Given the description of an element on the screen output the (x, y) to click on. 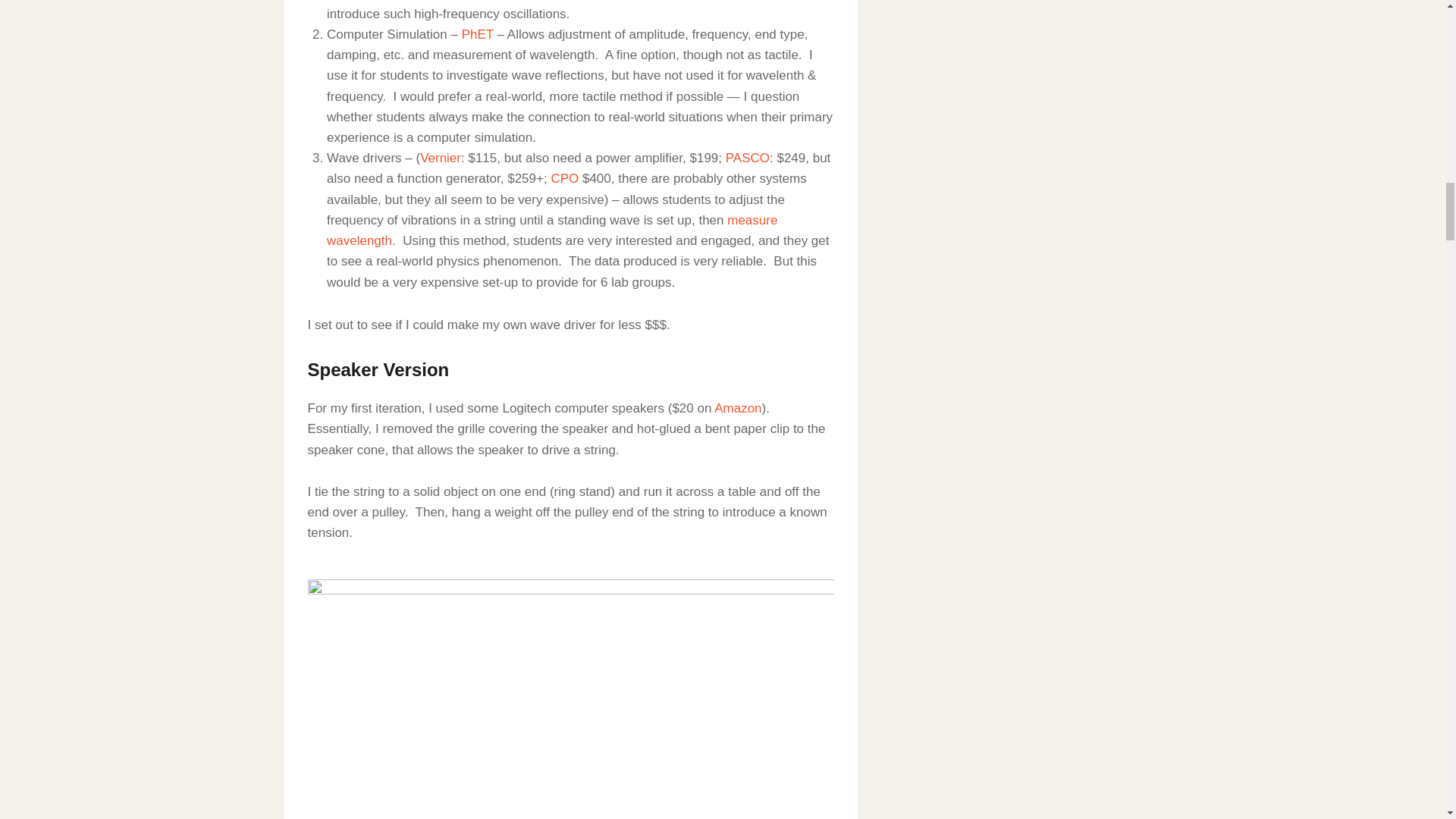
Vernier (440, 157)
PhET (477, 34)
